Given the description of an element on the screen output the (x, y) to click on. 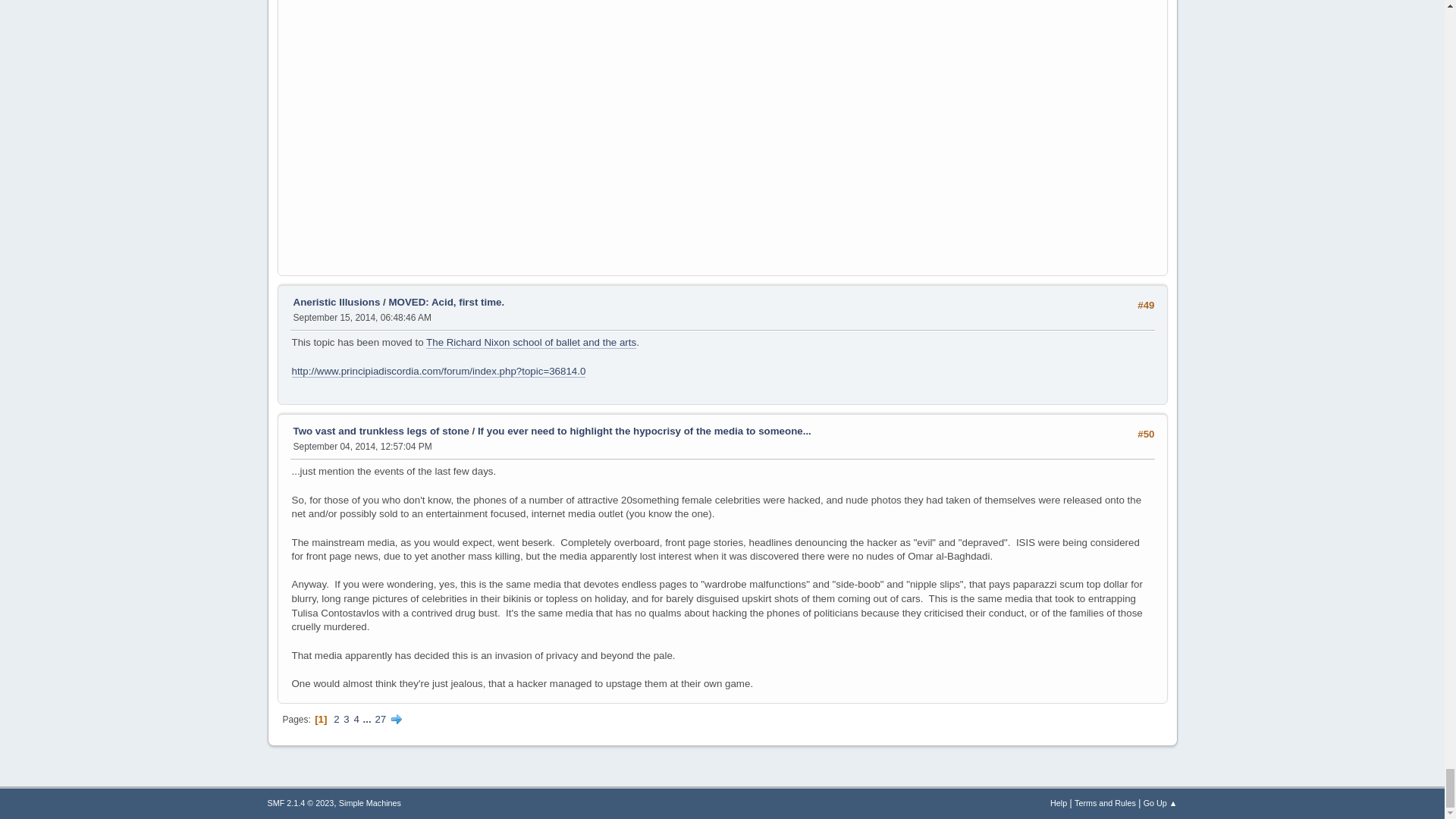
Simple Machines (370, 802)
License (299, 802)
